Given the description of an element on the screen output the (x, y) to click on. 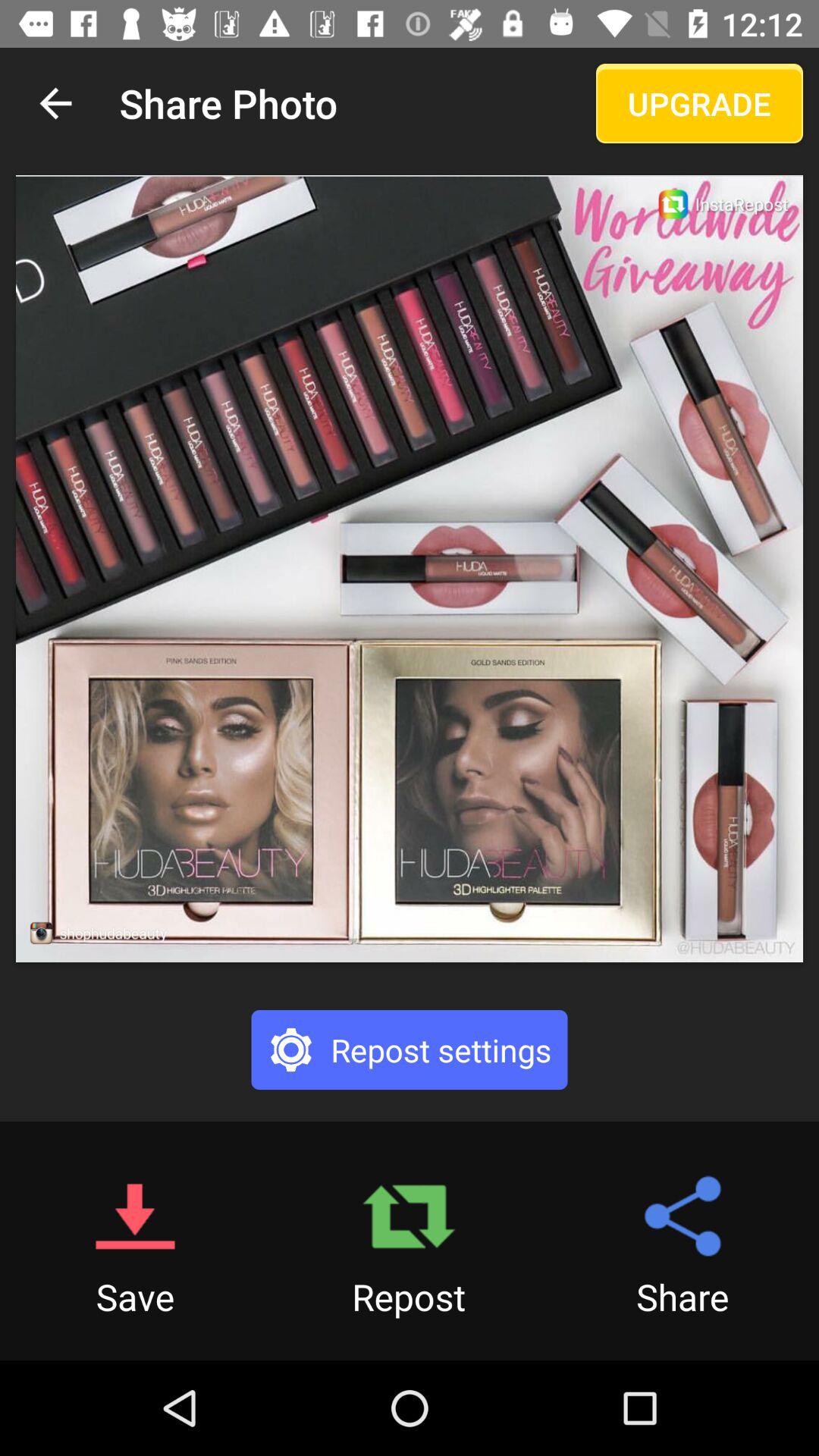
tap icon to the right of share photo app (699, 103)
